Given the description of an element on the screen output the (x, y) to click on. 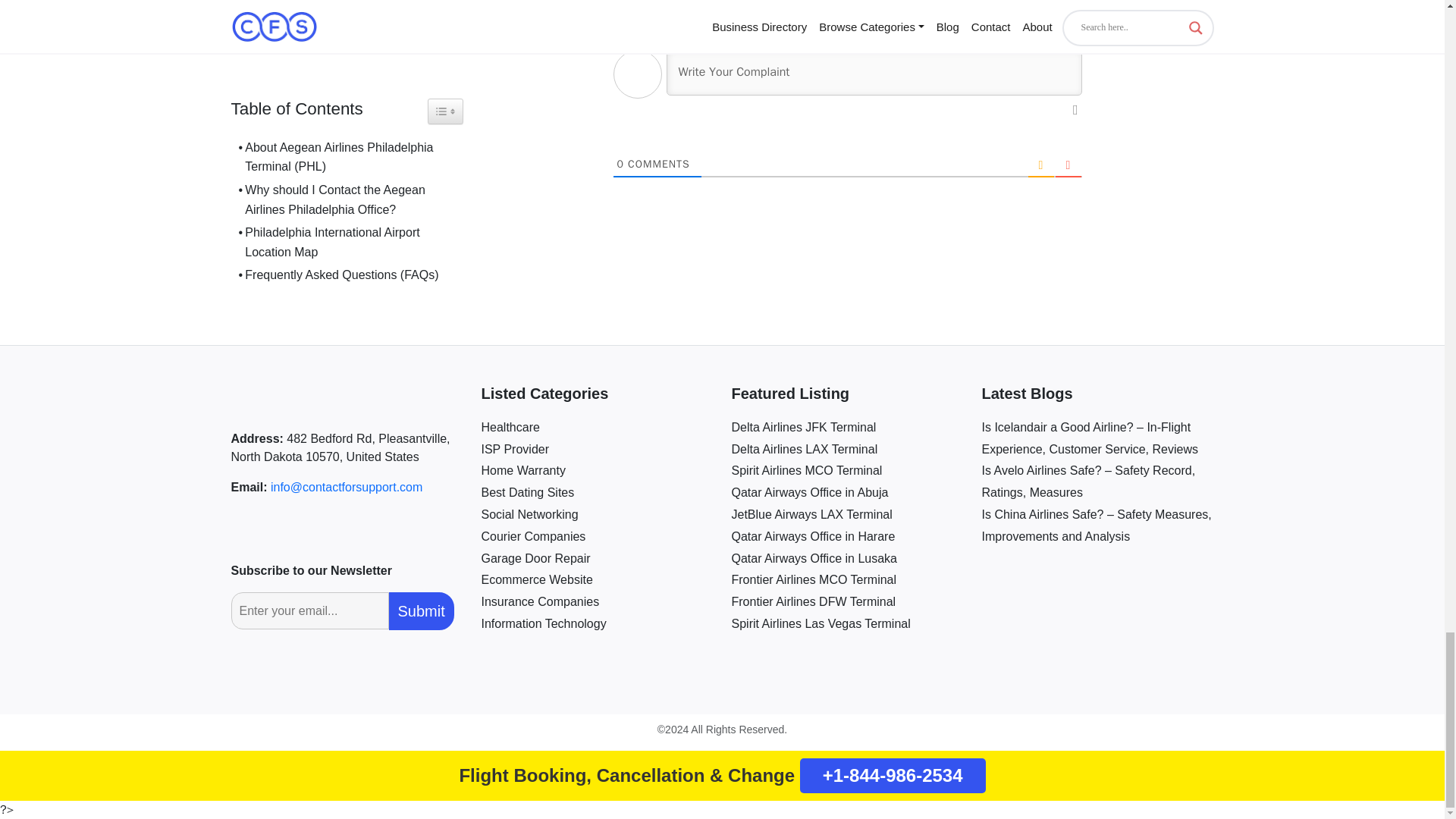
Submit (420, 610)
Submit (420, 610)
Login (1064, 15)
